Given the description of an element on the screen output the (x, y) to click on. 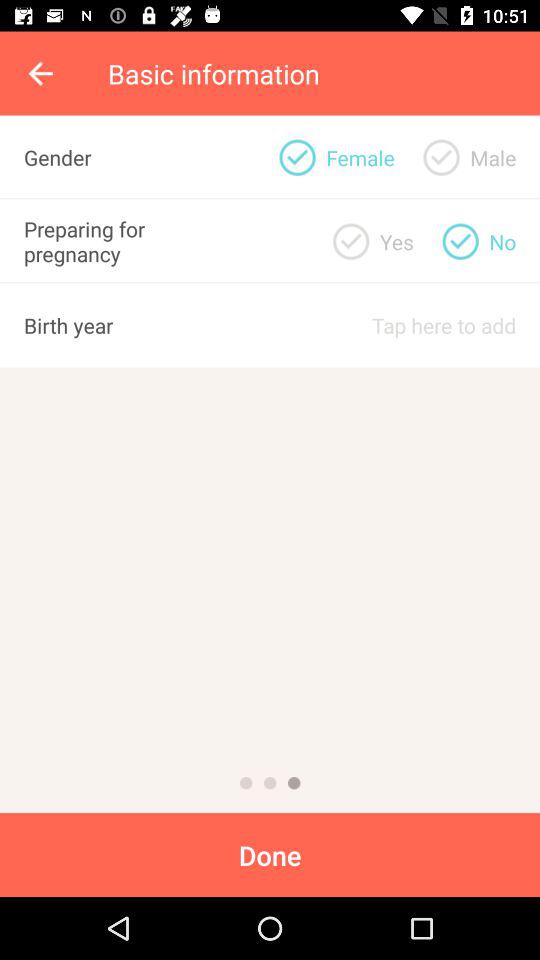
press icon above done item (294, 782)
